Given the description of an element on the screen output the (x, y) to click on. 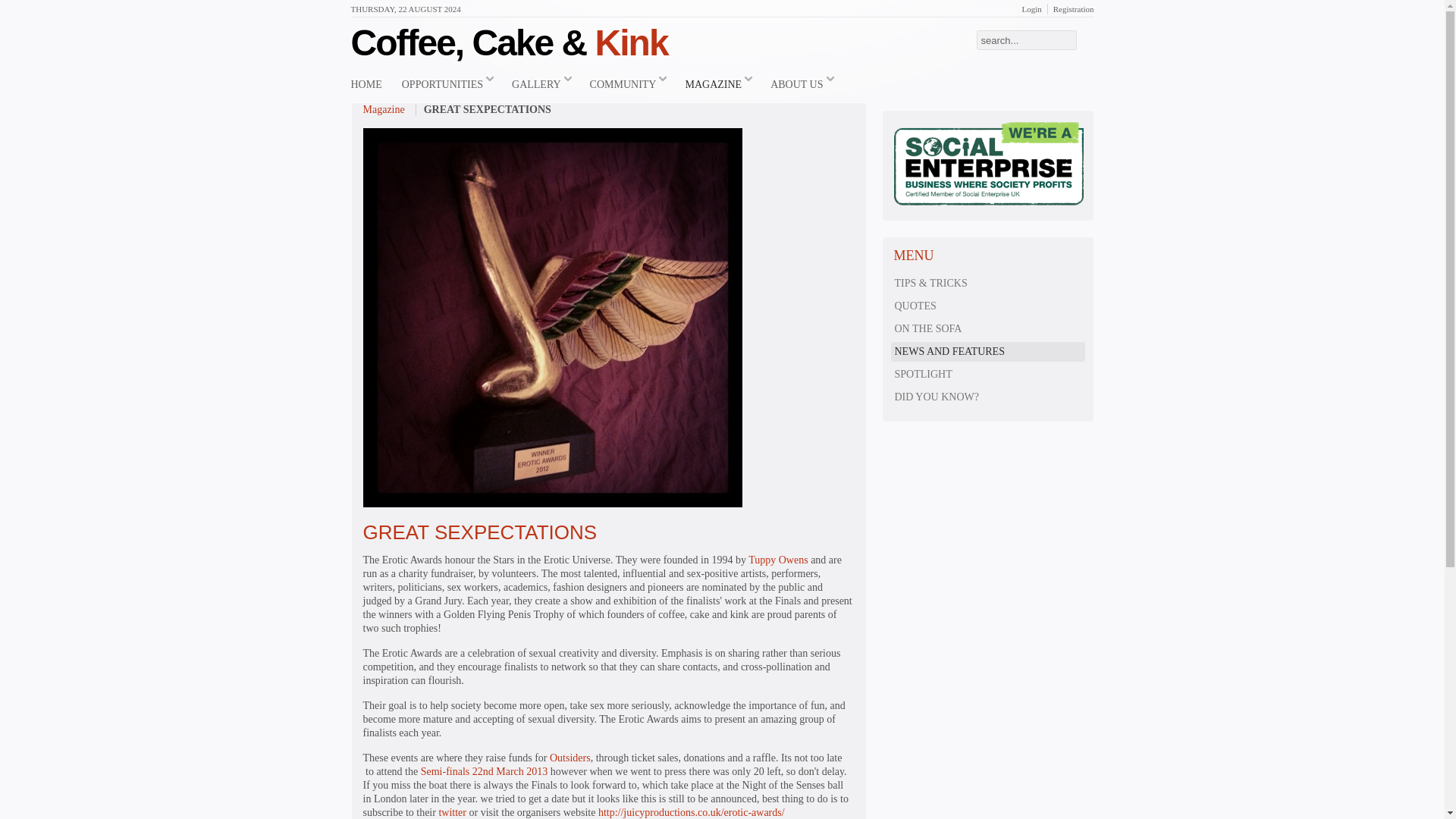
More information and ticket link (484, 771)
OPPORTUNITIES (446, 84)
HOME (365, 84)
GREAT SEXPECTATIONS (479, 531)
Night of the senses twitter link (451, 812)
Login (1031, 9)
Registration (1073, 9)
GALLERY (540, 84)
Reset (3, 2)
More information on Tuppy Owens (779, 559)
